Given the description of an element on the screen output the (x, y) to click on. 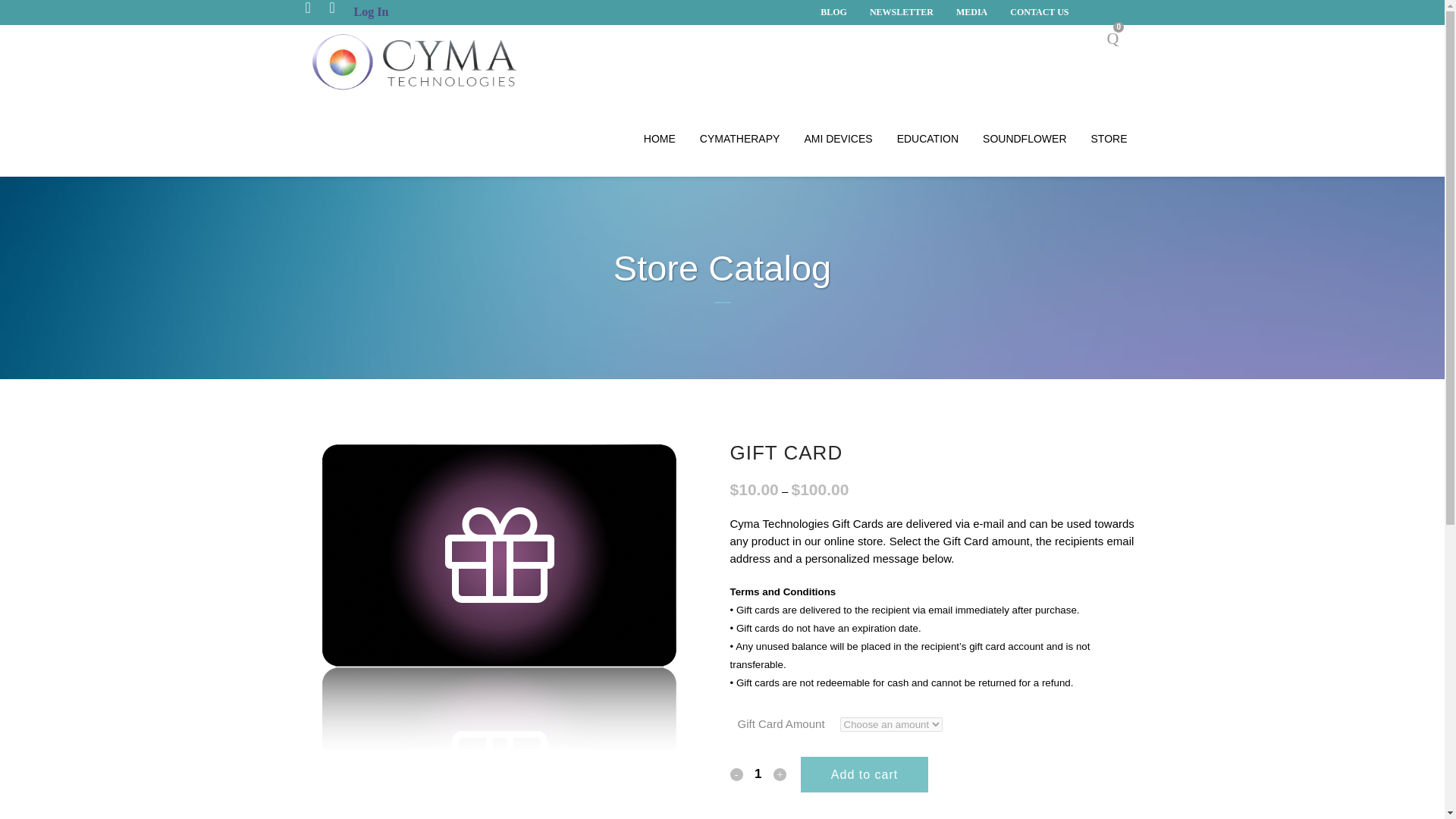
CYMATHERAPY (739, 138)
AMI DEVICES (837, 138)
SOUNDFLOWER (1024, 138)
MEDIA (965, 12)
- (736, 774)
EDUCATION (928, 138)
CONTACT US (1033, 12)
pw-gift-card (498, 594)
1 (757, 774)
NEWSLETTER (896, 12)
Log In (370, 11)
BLOG (828, 12)
